Given the description of an element on the screen output the (x, y) to click on. 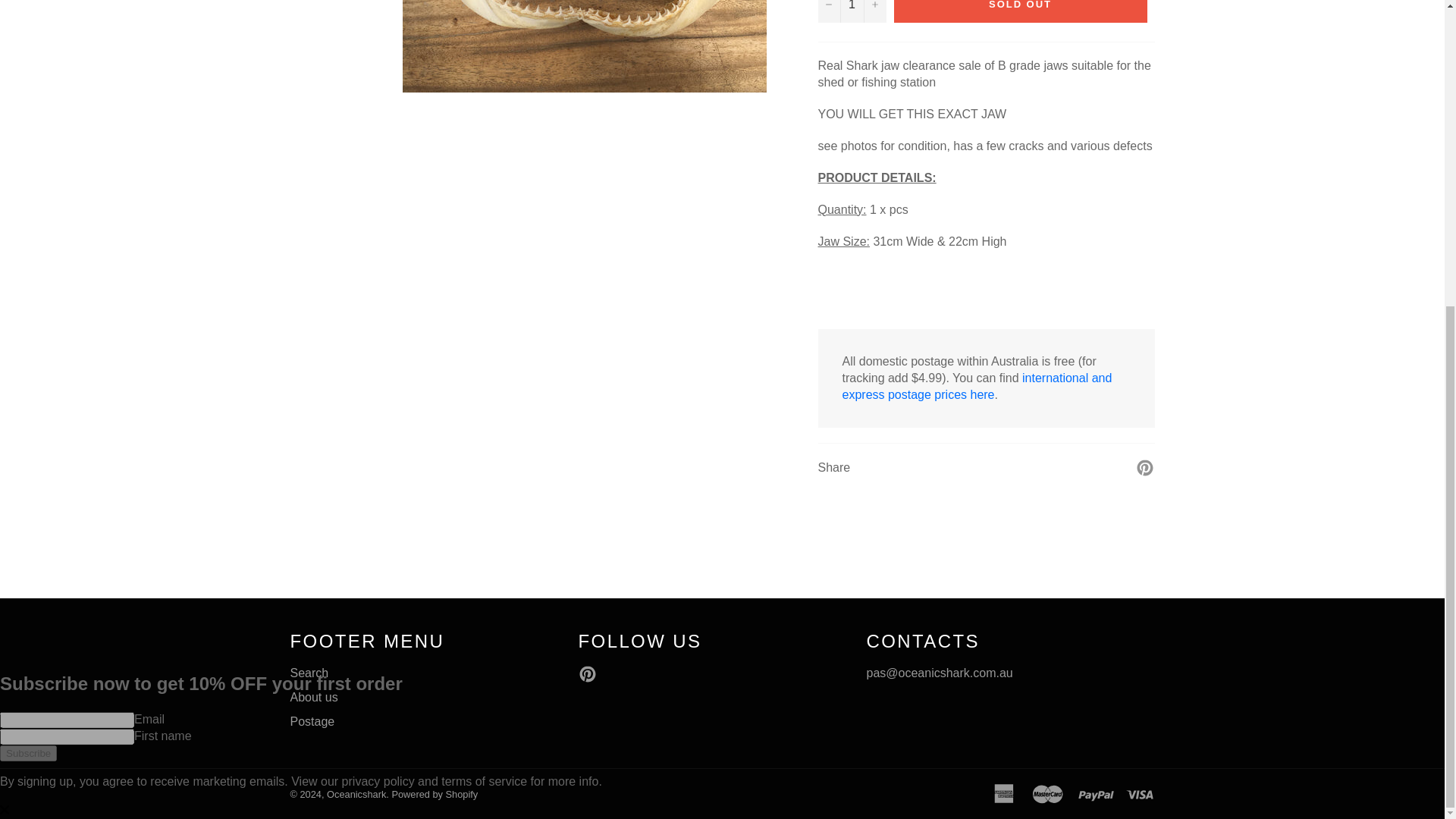
Pin on Pinterest (1144, 466)
1 (850, 11)
Oceanicshark on Pinterest (591, 674)
